Given the description of an element on the screen output the (x, y) to click on. 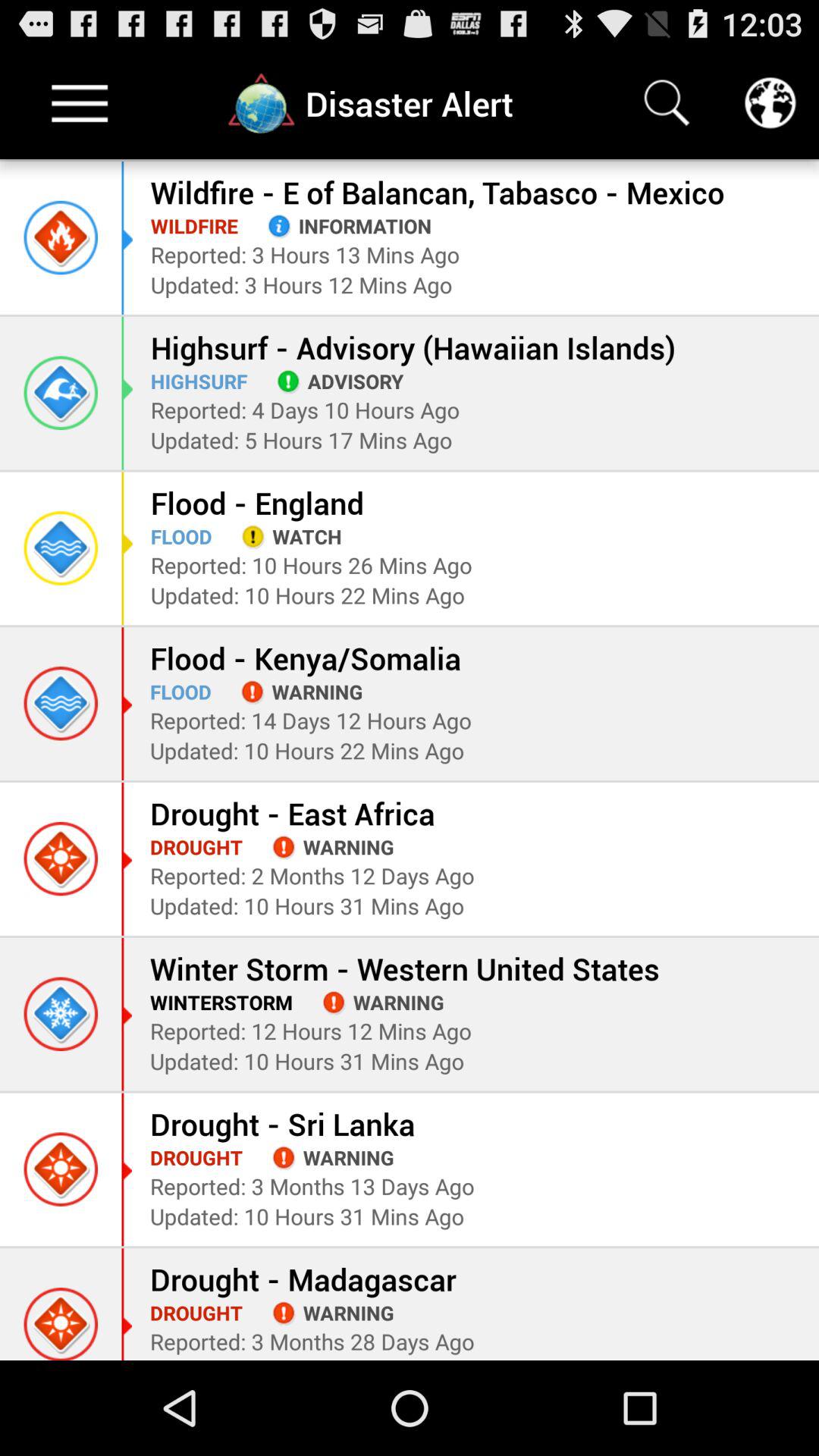
open menu (79, 103)
